Given the description of an element on the screen output the (x, y) to click on. 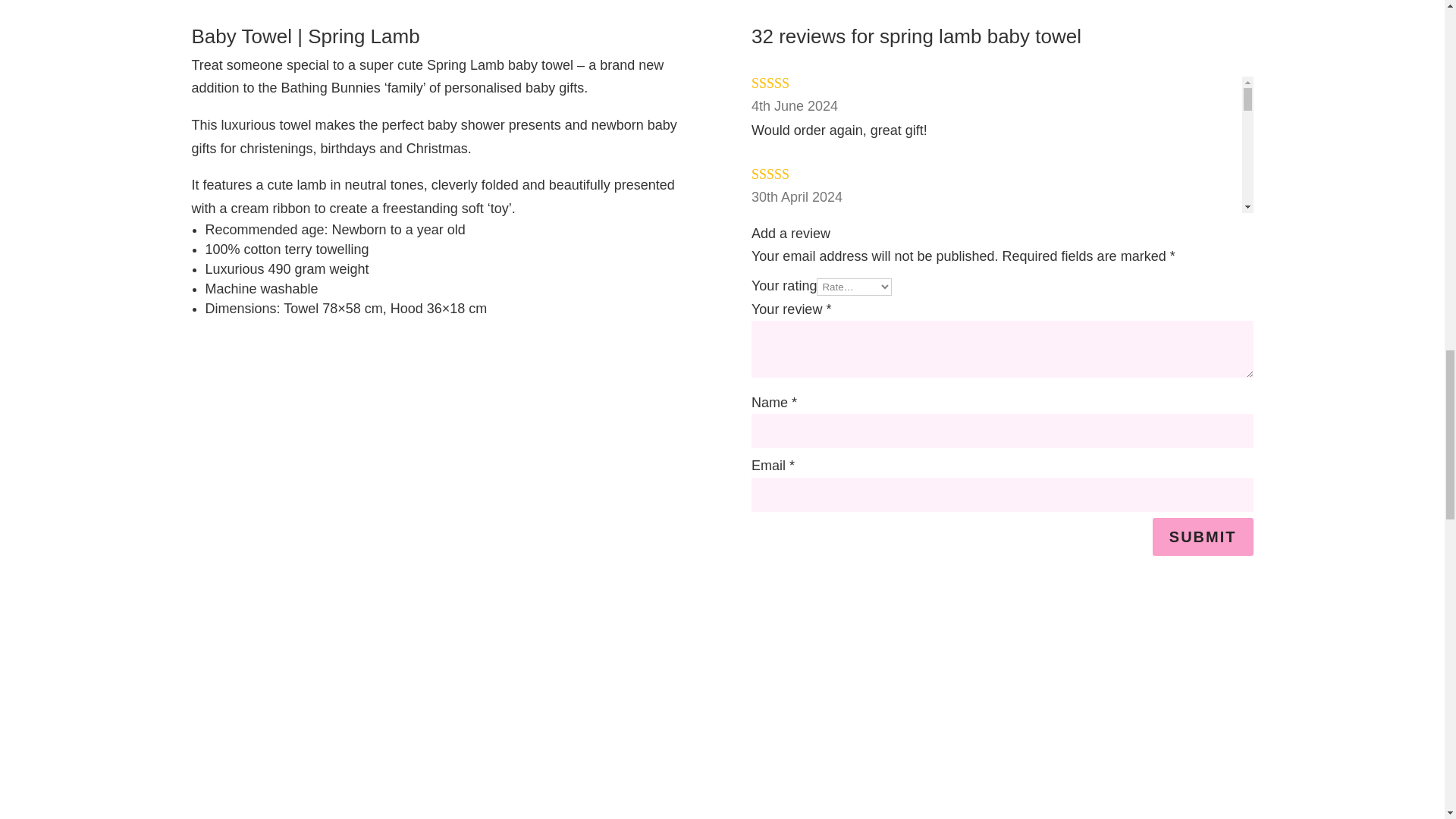
SUBMIT (1203, 536)
